Given the description of an element on the screen output the (x, y) to click on. 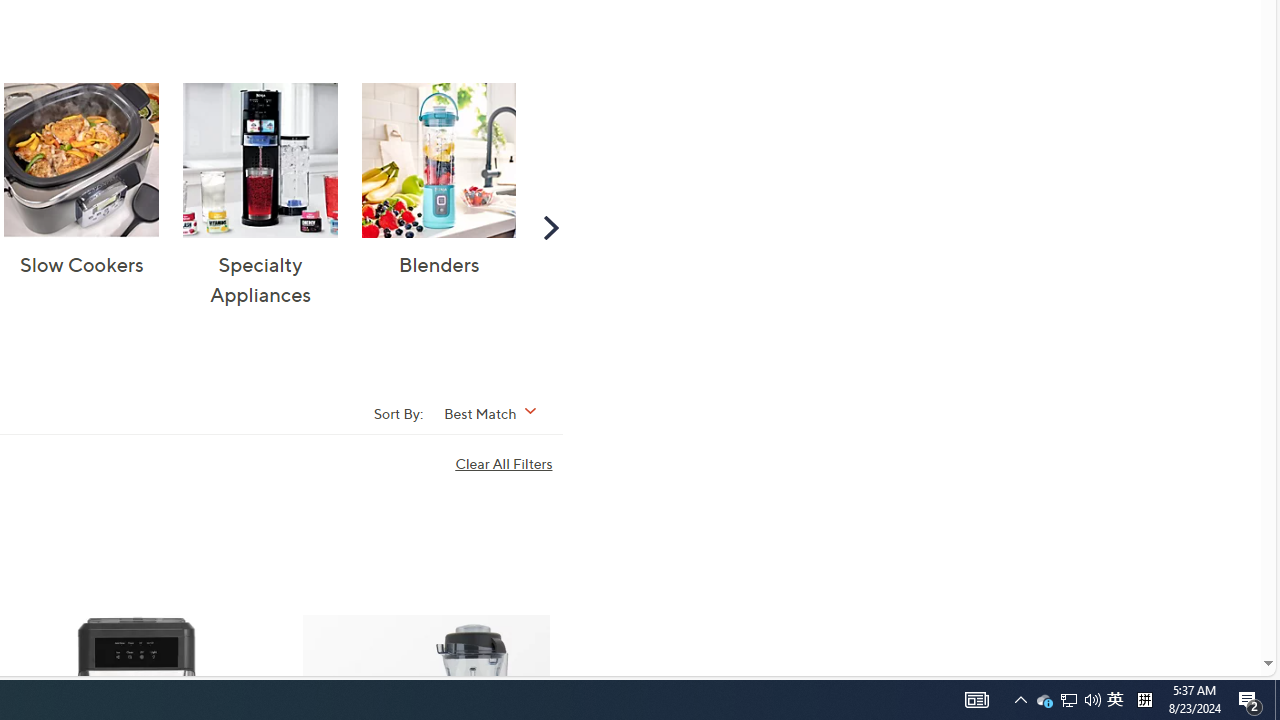
Specialty Appliances (260, 160)
Sort By Best Match (496, 412)
Scroll Right (550, 225)
Clear All Filters (508, 463)
Slow Cookers Slow Cookers (81, 181)
Blenders Blenders (438, 181)
Blenders (438, 160)
Slow Cookers (81, 160)
Specialty Appliances Specialty Appliances (260, 196)
